Given the description of an element on the screen output the (x, y) to click on. 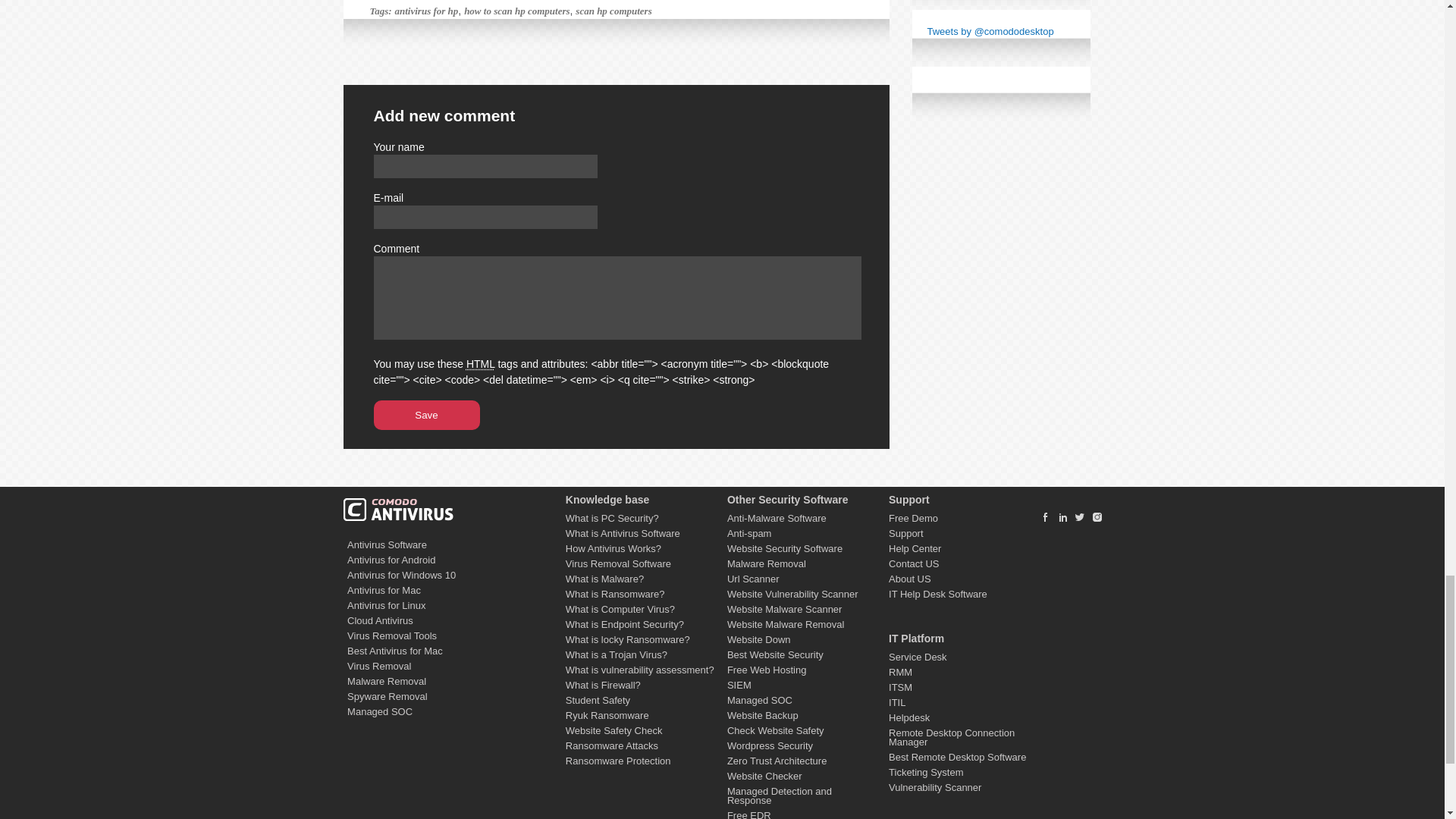
antivirus for hp (426, 10)
Save (425, 414)
how to scan hp computers (516, 10)
